Given the description of an element on the screen output the (x, y) to click on. 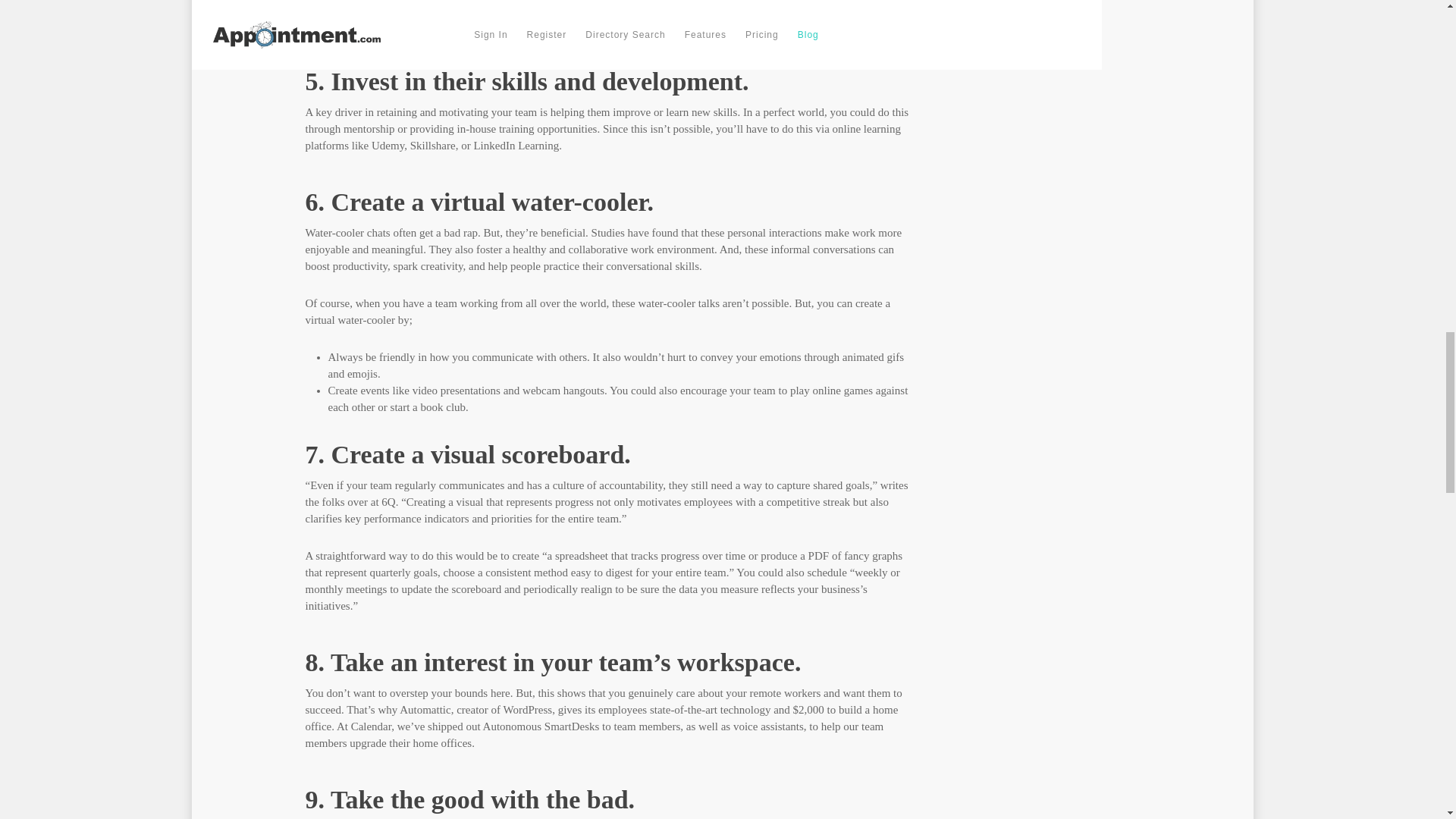
create a virtual water-cooler (596, 311)
6Q (387, 501)
culture of accountability (608, 485)
Studies (607, 232)
